Given the description of an element on the screen output the (x, y) to click on. 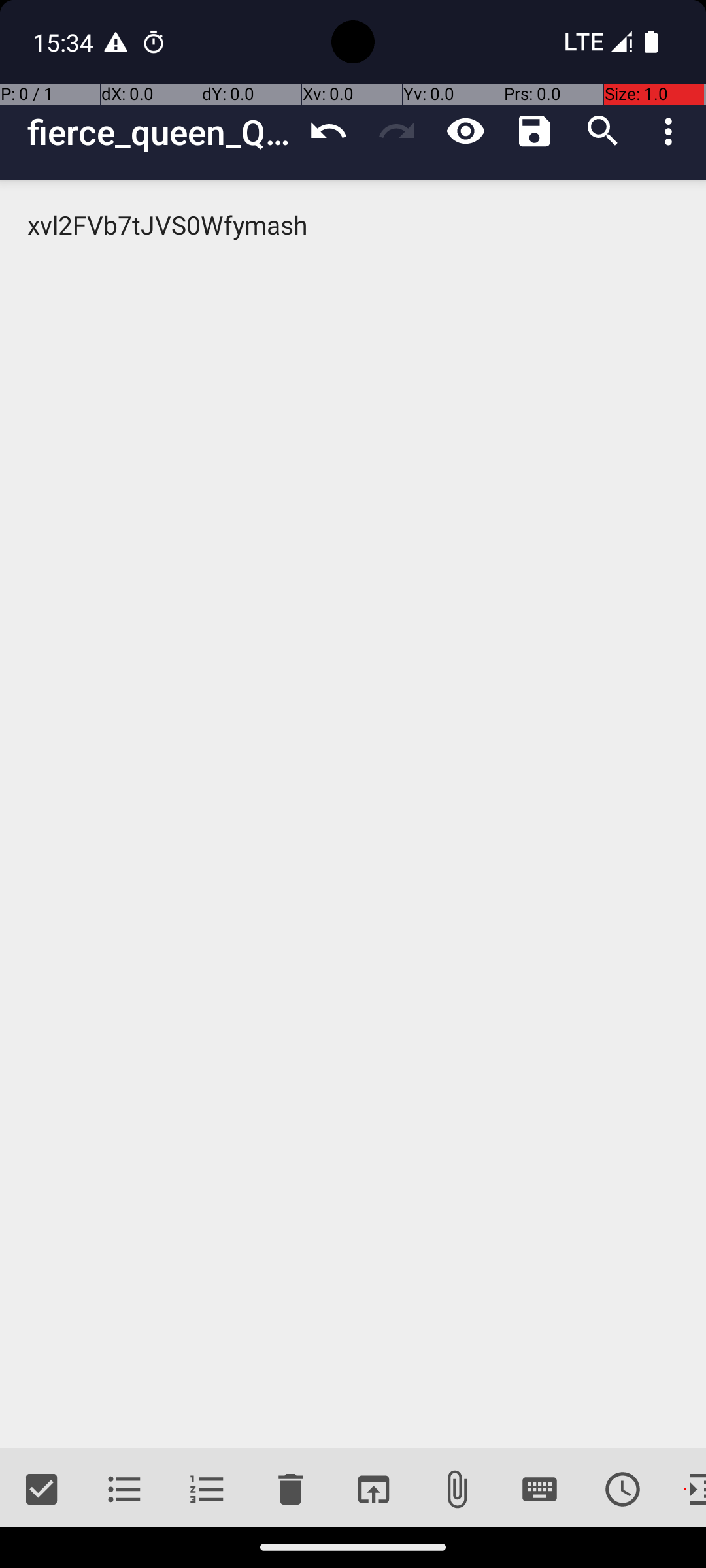
fierce_queen_QaaS Element type: android.widget.TextView (160, 131)
xvl2FVb7tJVS0Wfymash
 Element type: android.widget.EditText (353, 813)
Ordered list Element type: android.widget.ImageView (207, 1488)
Indent Element type: android.widget.ImageView (685, 1488)
